Given the description of an element on the screen output the (x, y) to click on. 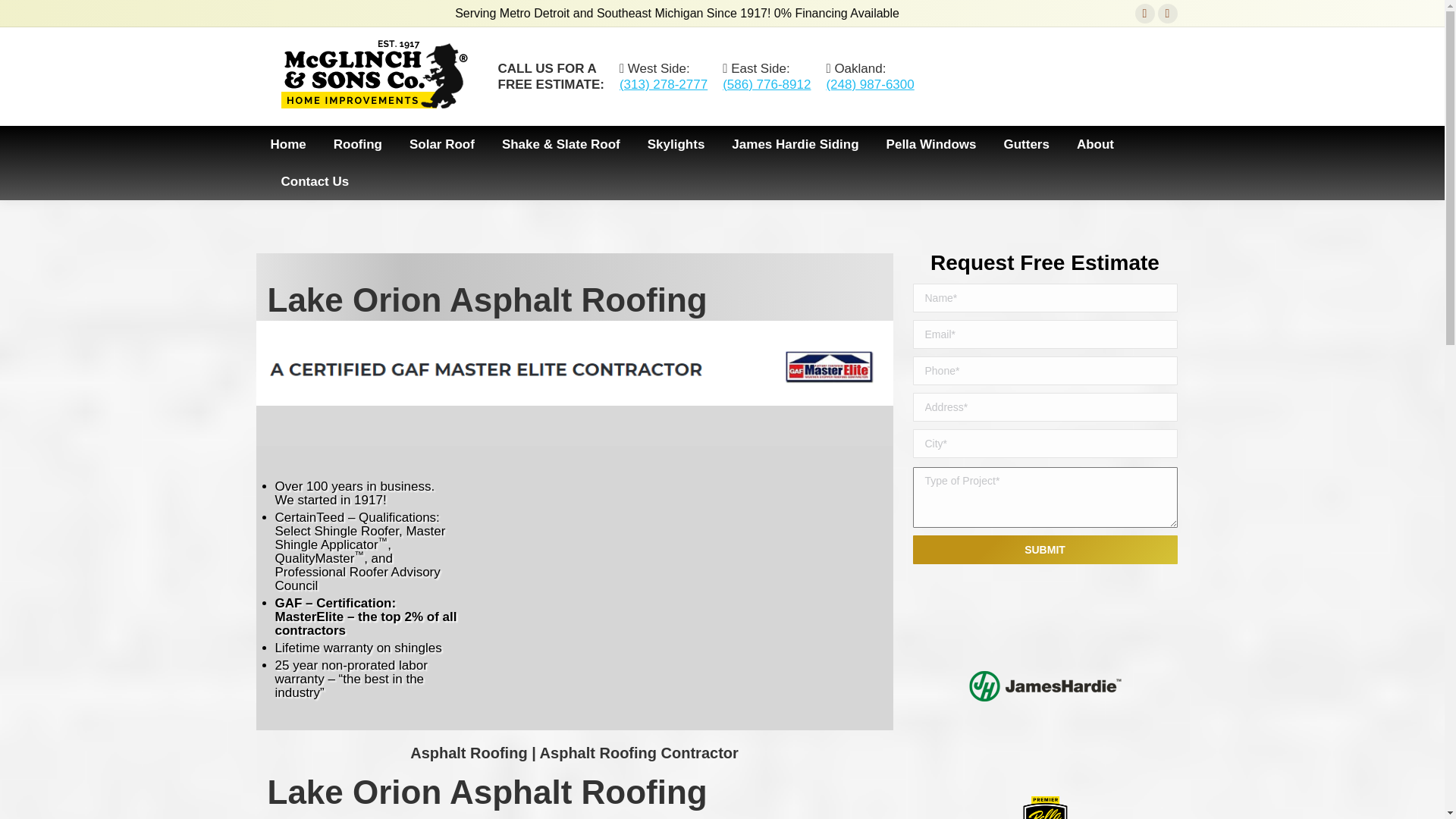
Twitter page opens in new window (1167, 13)
Home (287, 144)
Gutters (1025, 144)
Pella Windows (931, 144)
Skylights (676, 144)
Solar Roof (441, 144)
Twitter page opens in new window (1167, 13)
Facebook page opens in new window (1144, 13)
James Hardie Siding (795, 144)
About (1095, 144)
Roofing (357, 144)
Facebook page opens in new window (1144, 13)
Contact Us (315, 181)
SUBMIT (1044, 549)
